Given the description of an element on the screen output the (x, y) to click on. 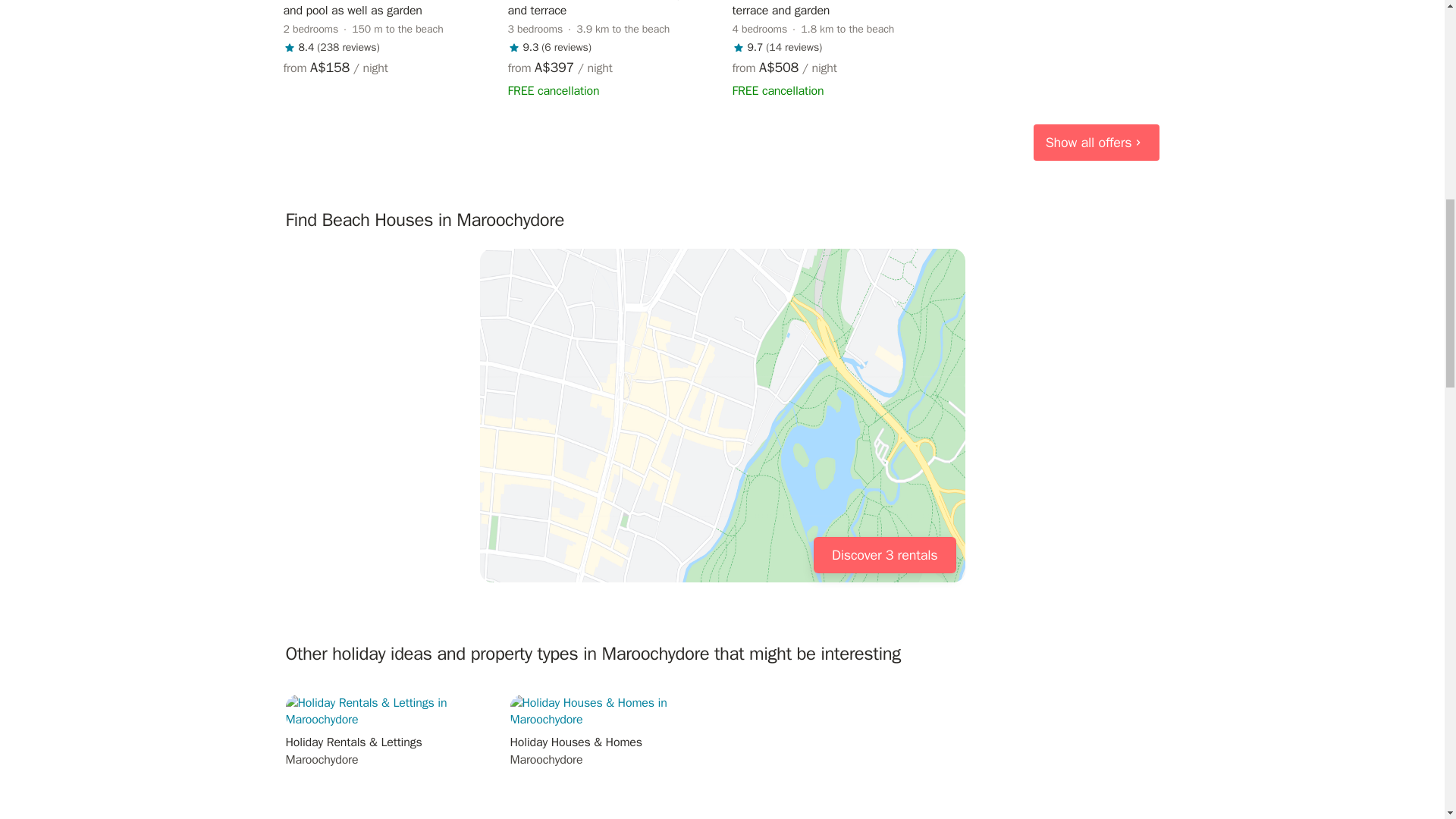
Show all offers (1095, 142)
Discover 3 rentals (884, 555)
